Given the description of an element on the screen output the (x, y) to click on. 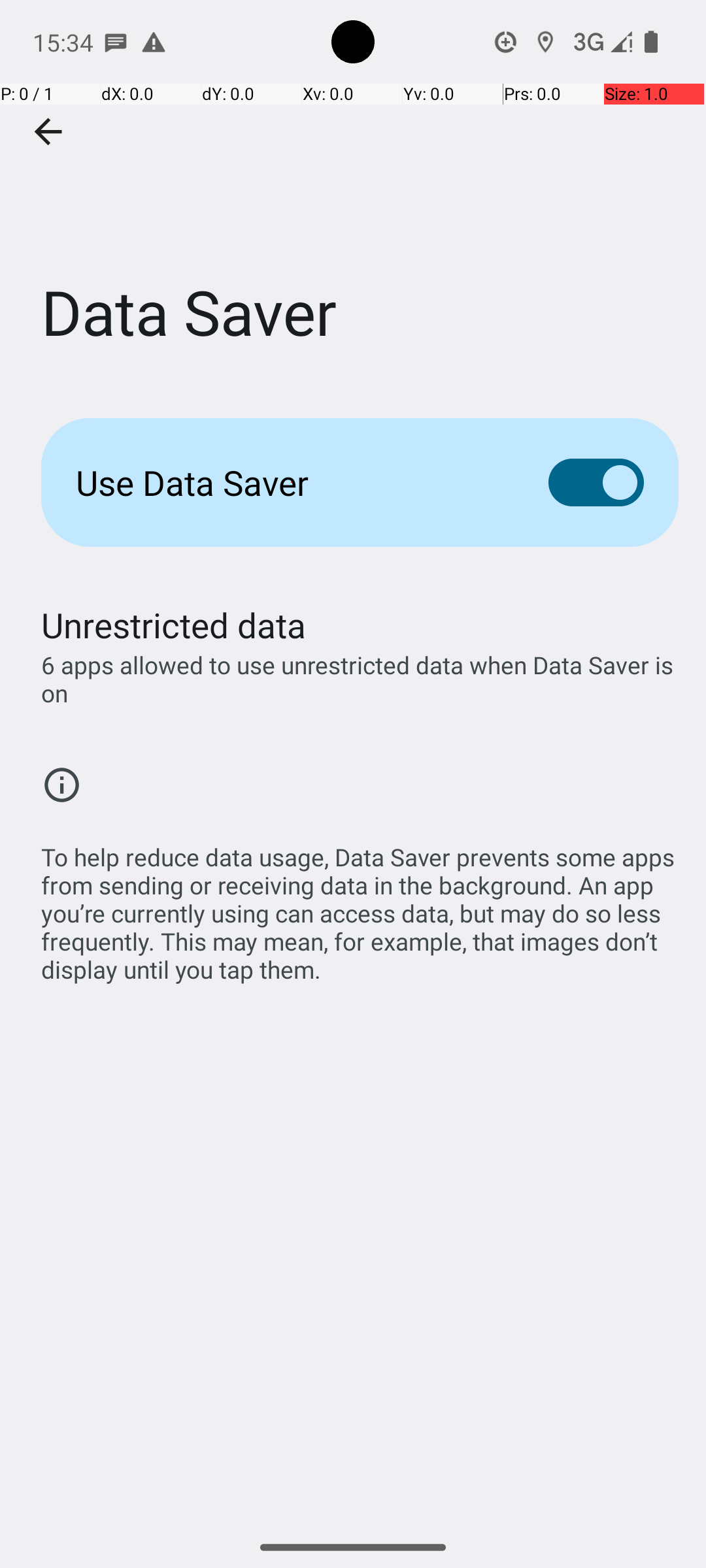
Data Saver Element type: android.widget.FrameLayout (353, 195)
Use Data Saver Element type: android.widget.TextView (291, 482)
Unrestricted data Element type: android.widget.TextView (173, 624)
6 apps allowed to use unrestricted data when Data Saver is on Element type: android.widget.TextView (359, 678)
To help reduce data usage, Data Saver prevents some apps from sending or receiving data in the background. An app you’re currently using can access data, but may do so less frequently. This may mean, for example, that images don’t display until you tap them. Element type: android.widget.TextView (359, 905)
